Given the description of an element on the screen output the (x, y) to click on. 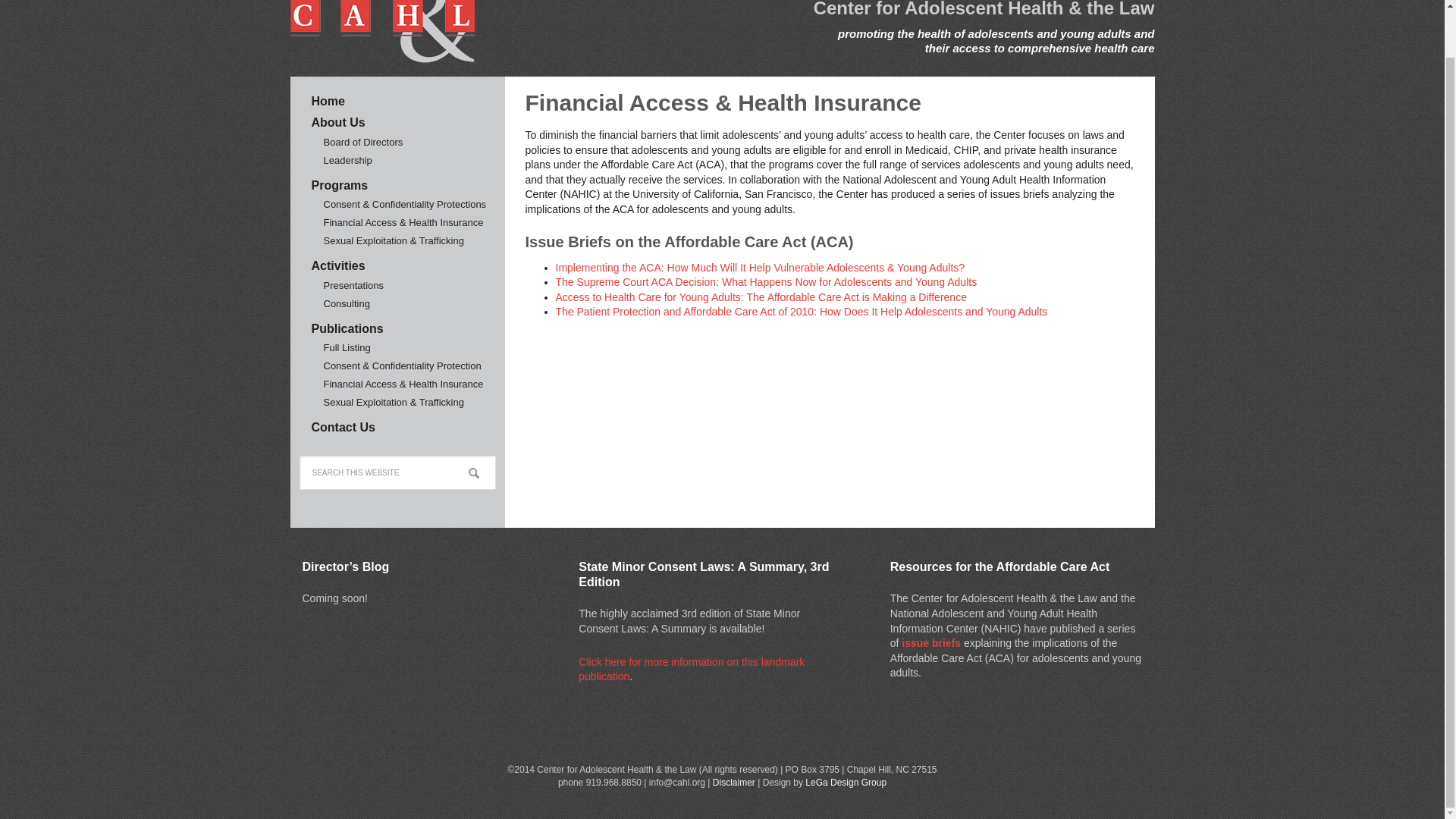
issue briefs (930, 643)
LeGa Design Group (845, 782)
About Us (338, 122)
Full Listing (346, 347)
Activities (338, 265)
